Given the description of an element on the screen output the (x, y) to click on. 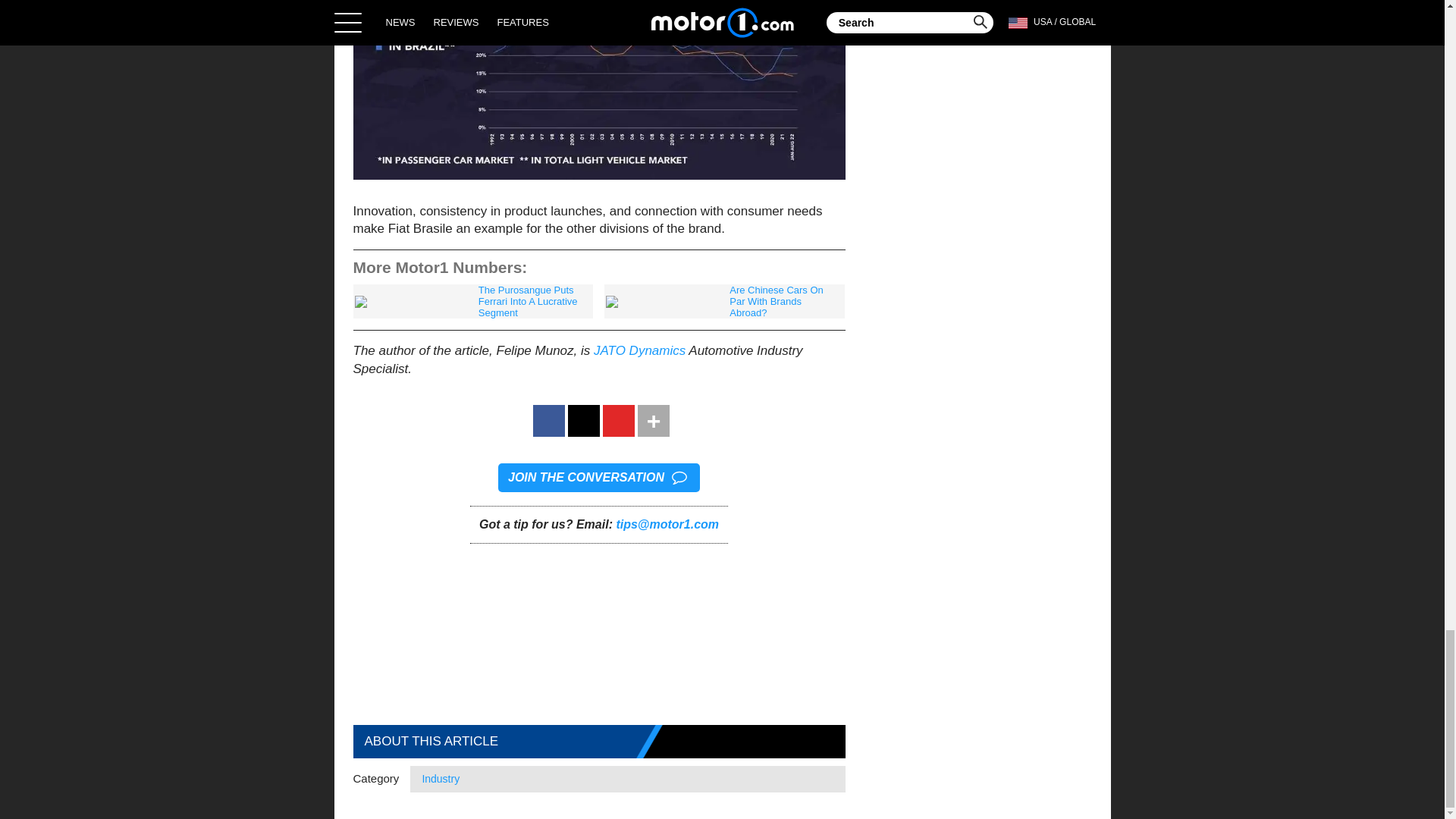
JATO Dynamics (639, 350)
The Purosangue Puts Ferrari Into A Lucrative Segment (473, 301)
Are Chinese Cars On Par With Brands Abroad? (724, 301)
